Given the description of an element on the screen output the (x, y) to click on. 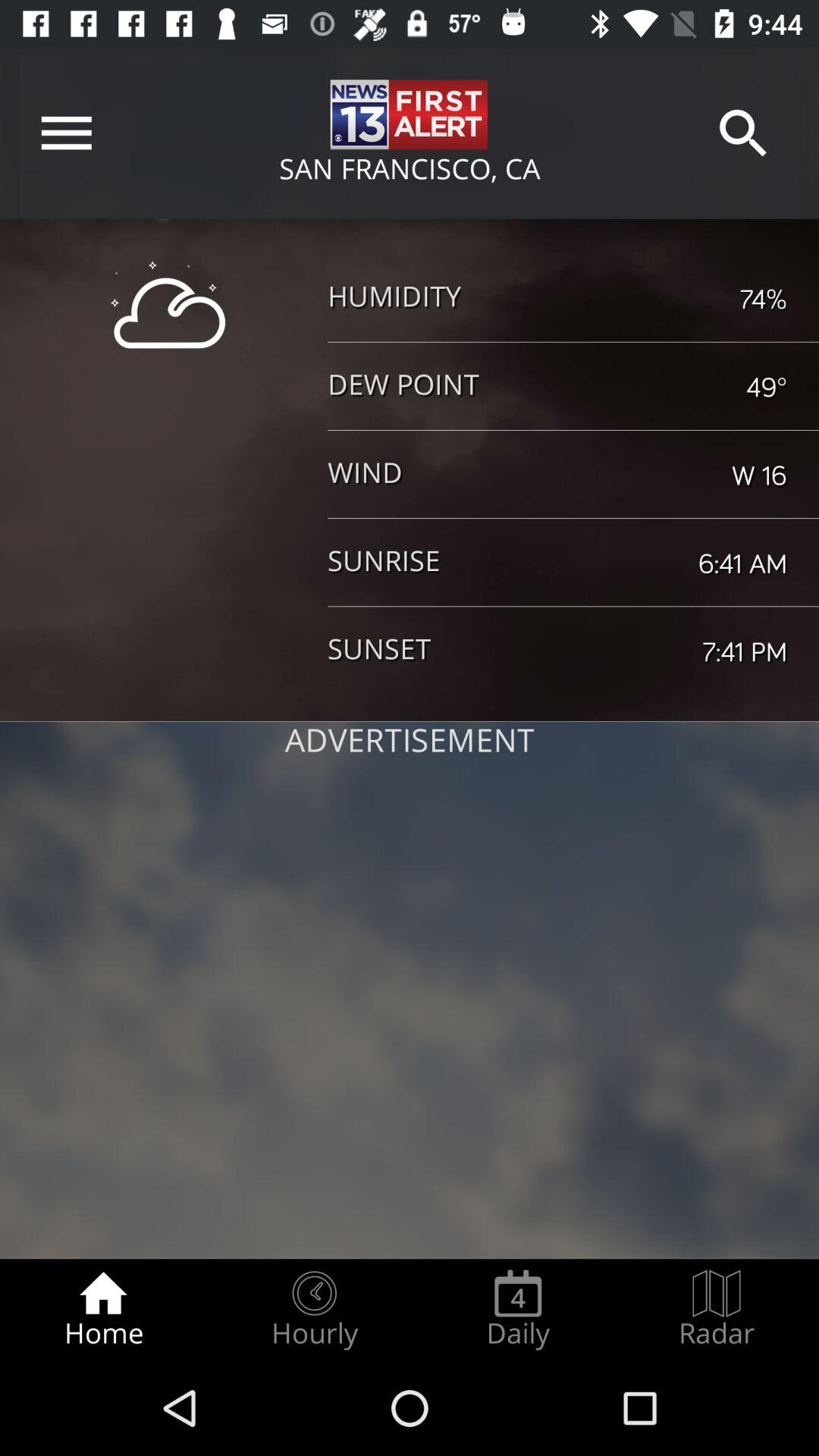
choose icon next to home (314, 1309)
